Given the description of an element on the screen output the (x, y) to click on. 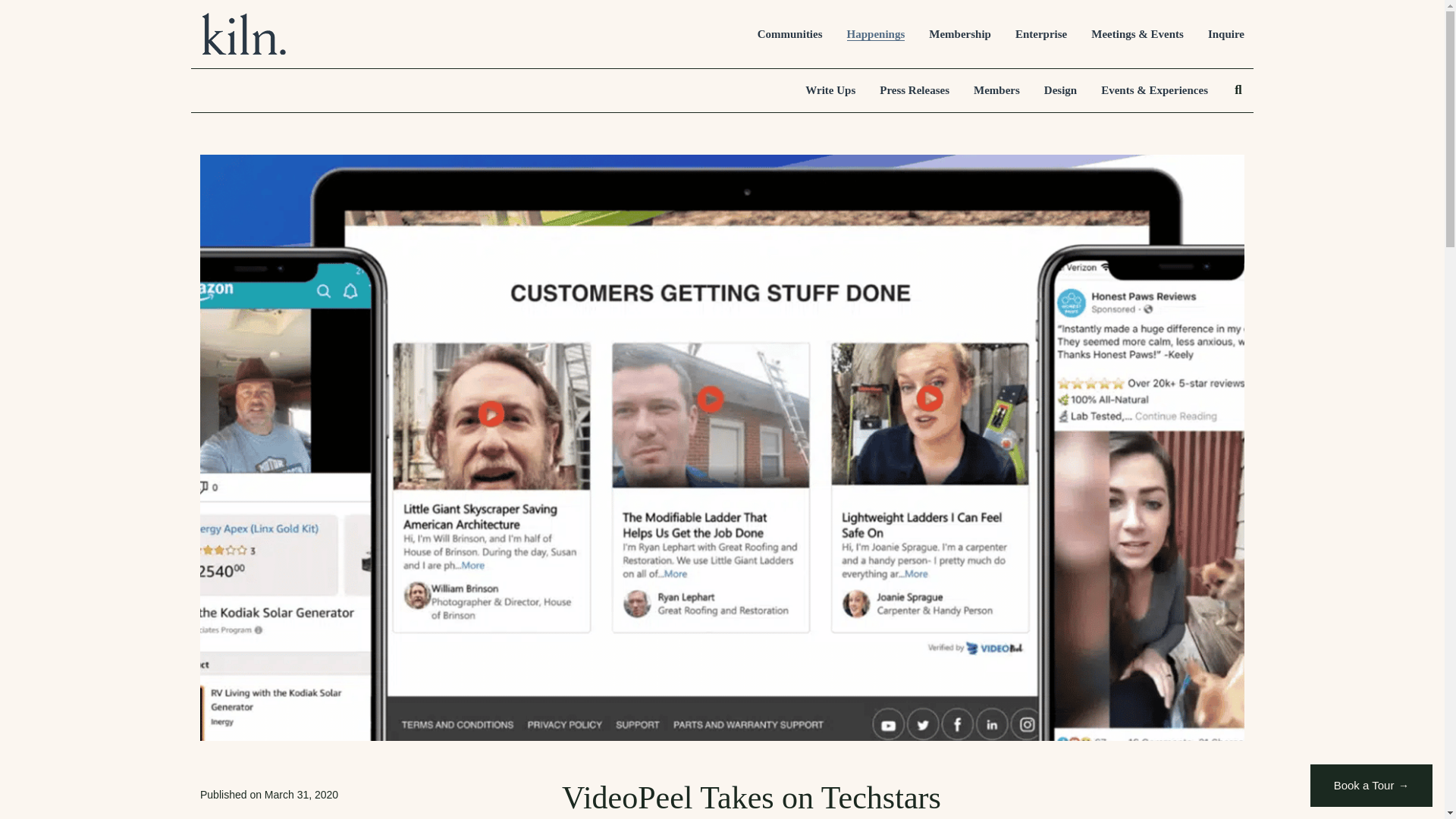
Enterprise (1040, 33)
Write Ups (830, 90)
Press Releases (914, 90)
Design (1060, 90)
Membership (959, 33)
Skip to Content (35, 23)
Members (997, 90)
Communities (789, 33)
Happenings (876, 33)
Inquire (1226, 33)
